Given the description of an element on the screen output the (x, y) to click on. 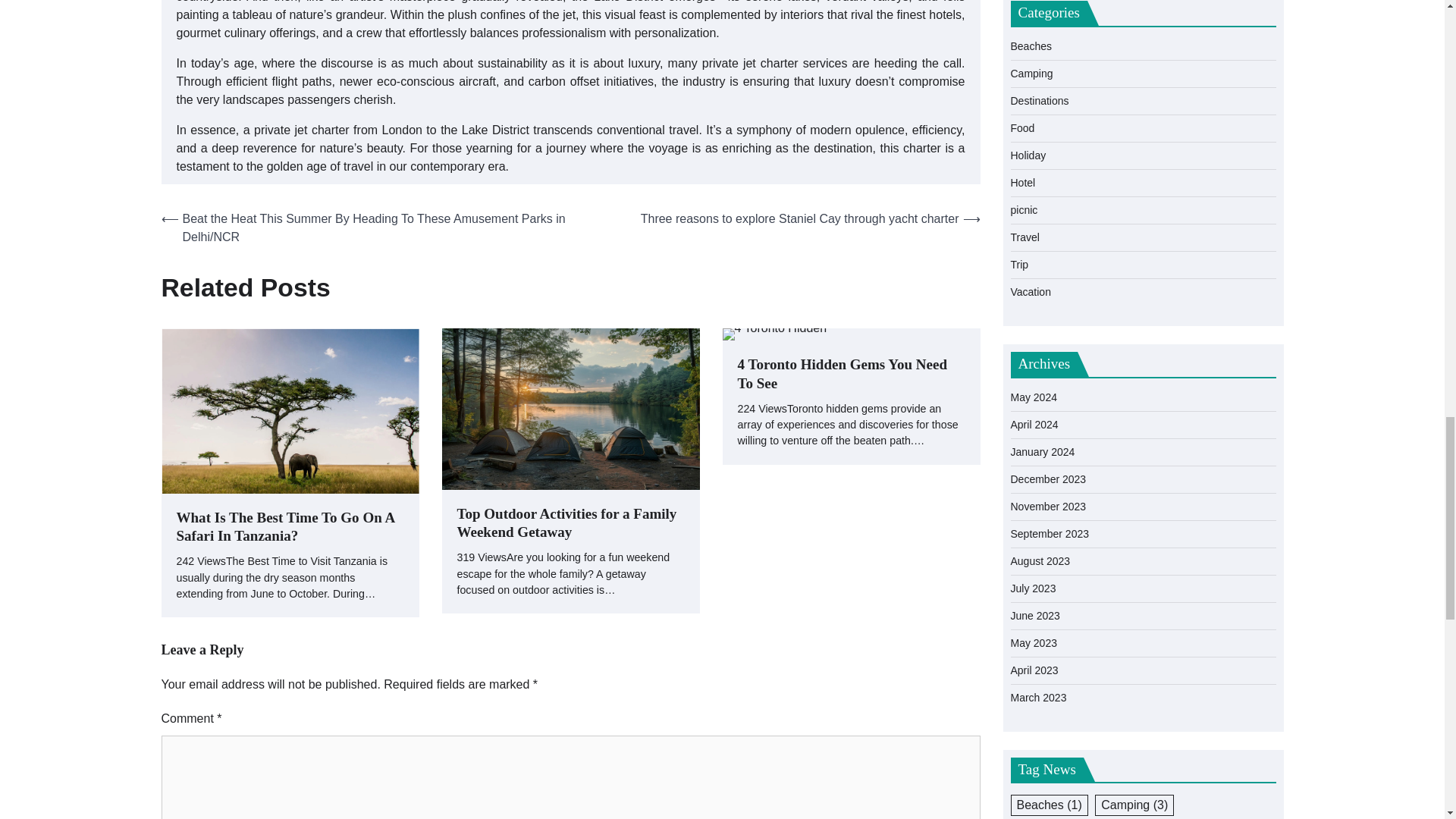
4 Toronto Hidden Gems You Need To See (849, 374)
Top Outdoor Activities for a Family Weekend Getaway (570, 523)
What Is The Best Time To Go On A Safari In Tanzania? (289, 527)
